Given the description of an element on the screen output the (x, y) to click on. 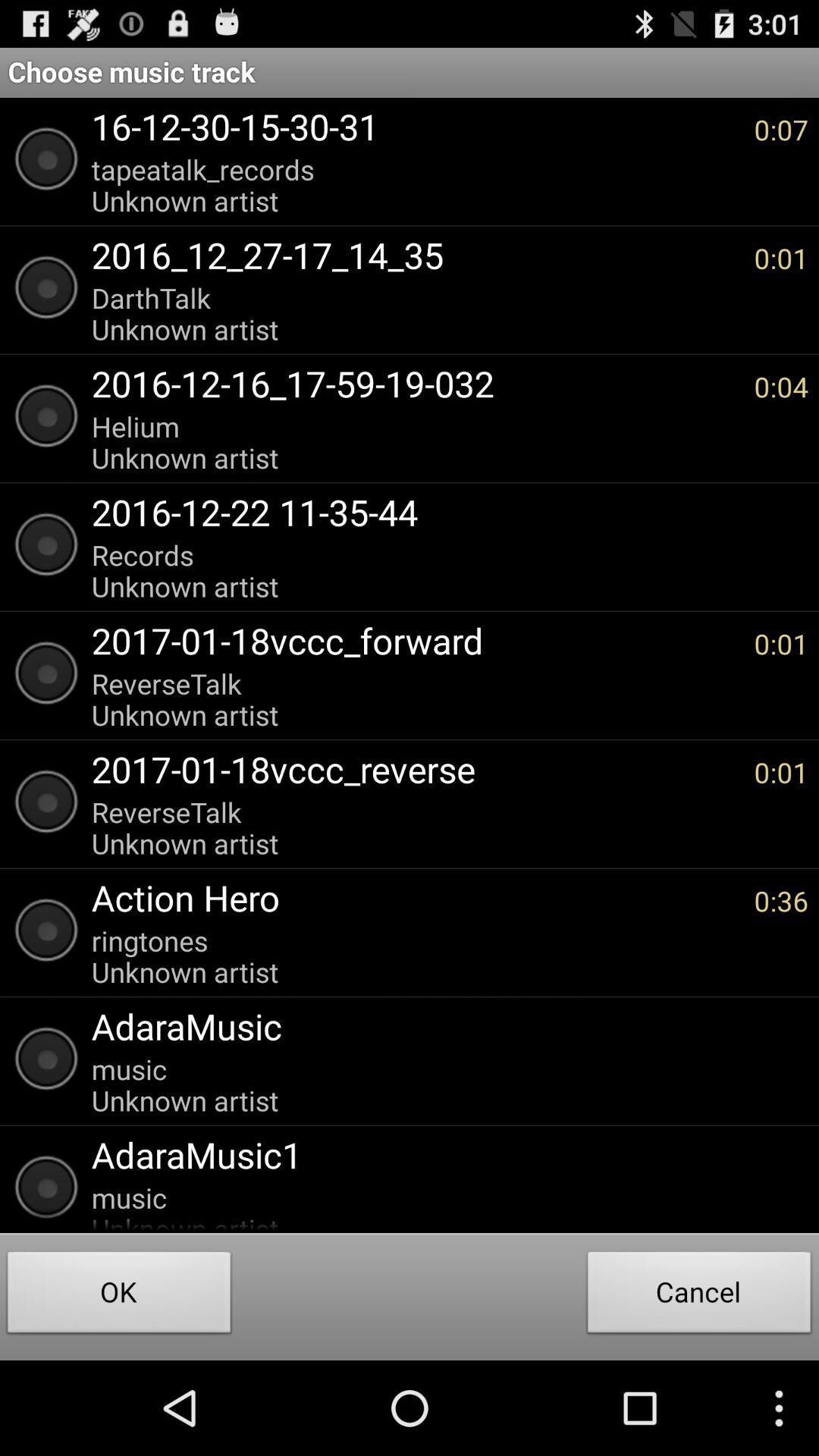
choose the app above 2016_12_27-17_14_35 (414, 185)
